Given the description of an element on the screen output the (x, y) to click on. 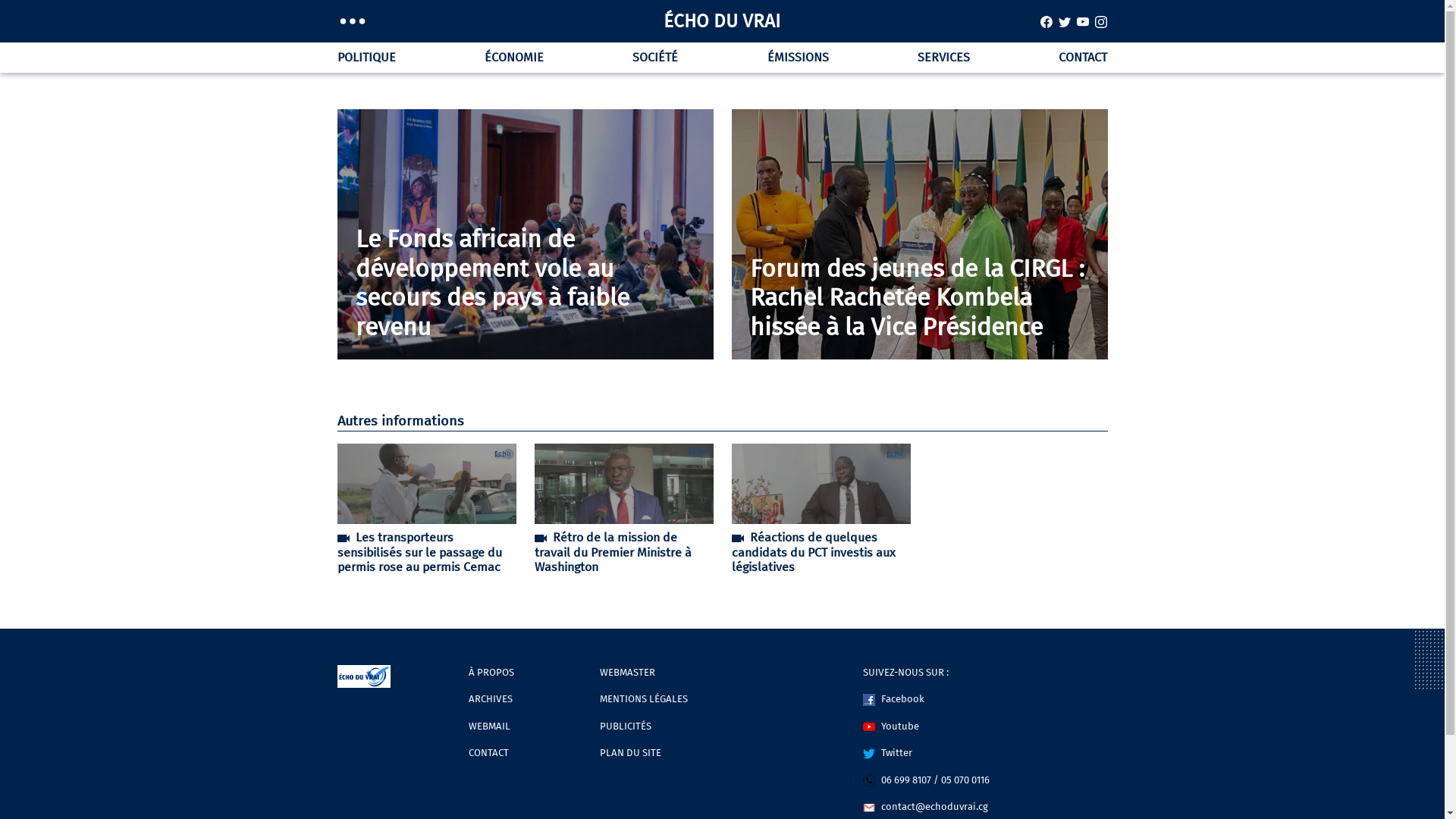
ARCHIVES Element type: text (490, 698)
WEBMAIL Element type: text (489, 725)
CONTACT Element type: text (1079, 57)
Facebook Element type: text (893, 698)
06 699 8107 Element type: text (896, 779)
Twitter Element type: text (887, 752)
POLITIQUE Element type: text (368, 57)
05 070 0116 Element type: text (965, 779)
CONTACT Element type: text (488, 752)
contact@echoduvrai.cg Element type: text (925, 806)
SERVICES Element type: text (943, 57)
WEBMASTER Element type: text (627, 671)
Youtube Element type: text (890, 725)
PLAN DU SITE Element type: text (630, 752)
